Given the description of an element on the screen output the (x, y) to click on. 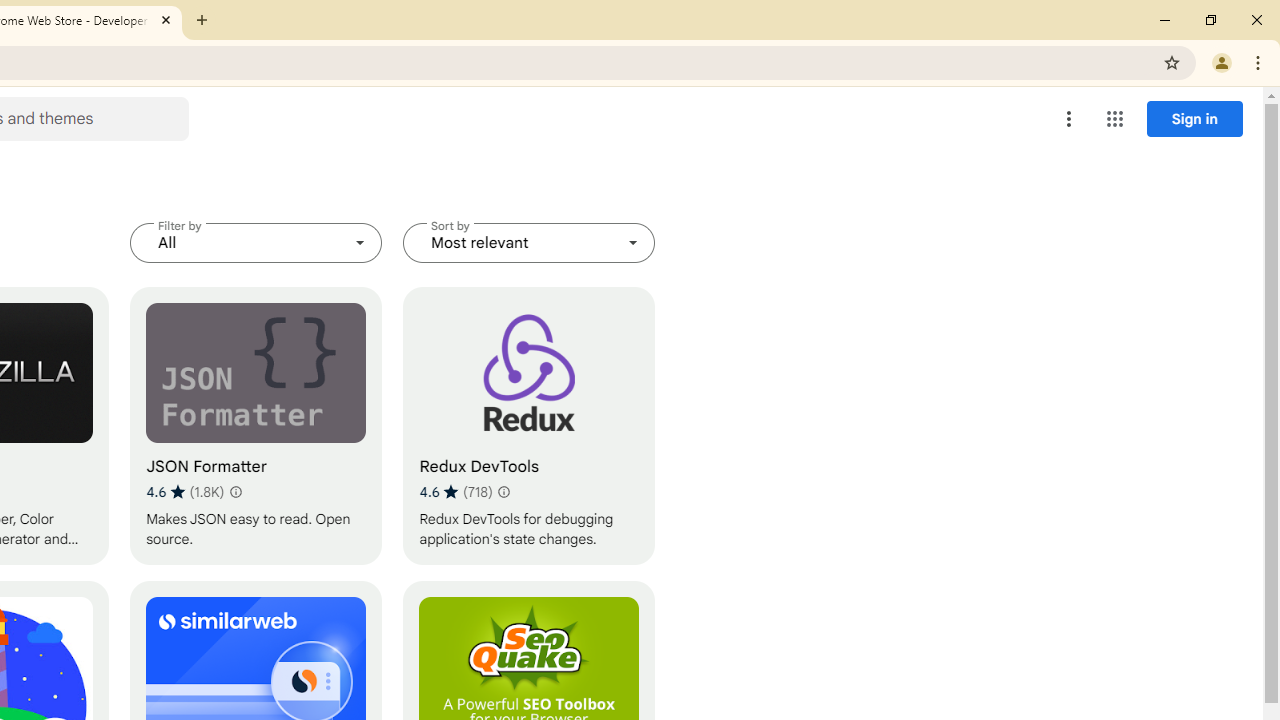
Learn more about results and reviews "Redux DevTools" (503, 491)
Average rating 4.6 out of 5 stars. 718 ratings. (455, 491)
